Given the description of an element on the screen output the (x, y) to click on. 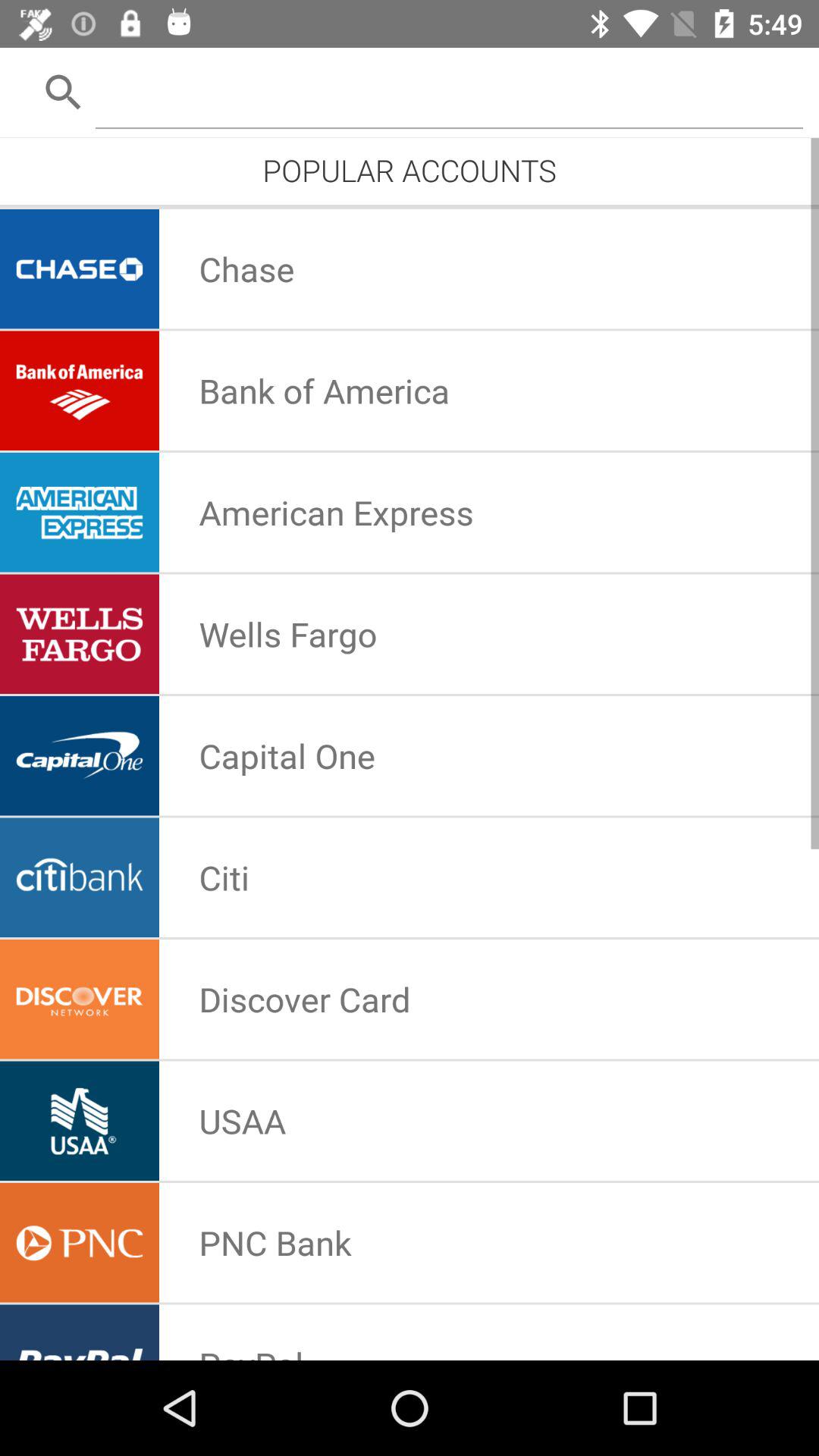
turn on discover card (304, 999)
